Given the description of an element on the screen output the (x, y) to click on. 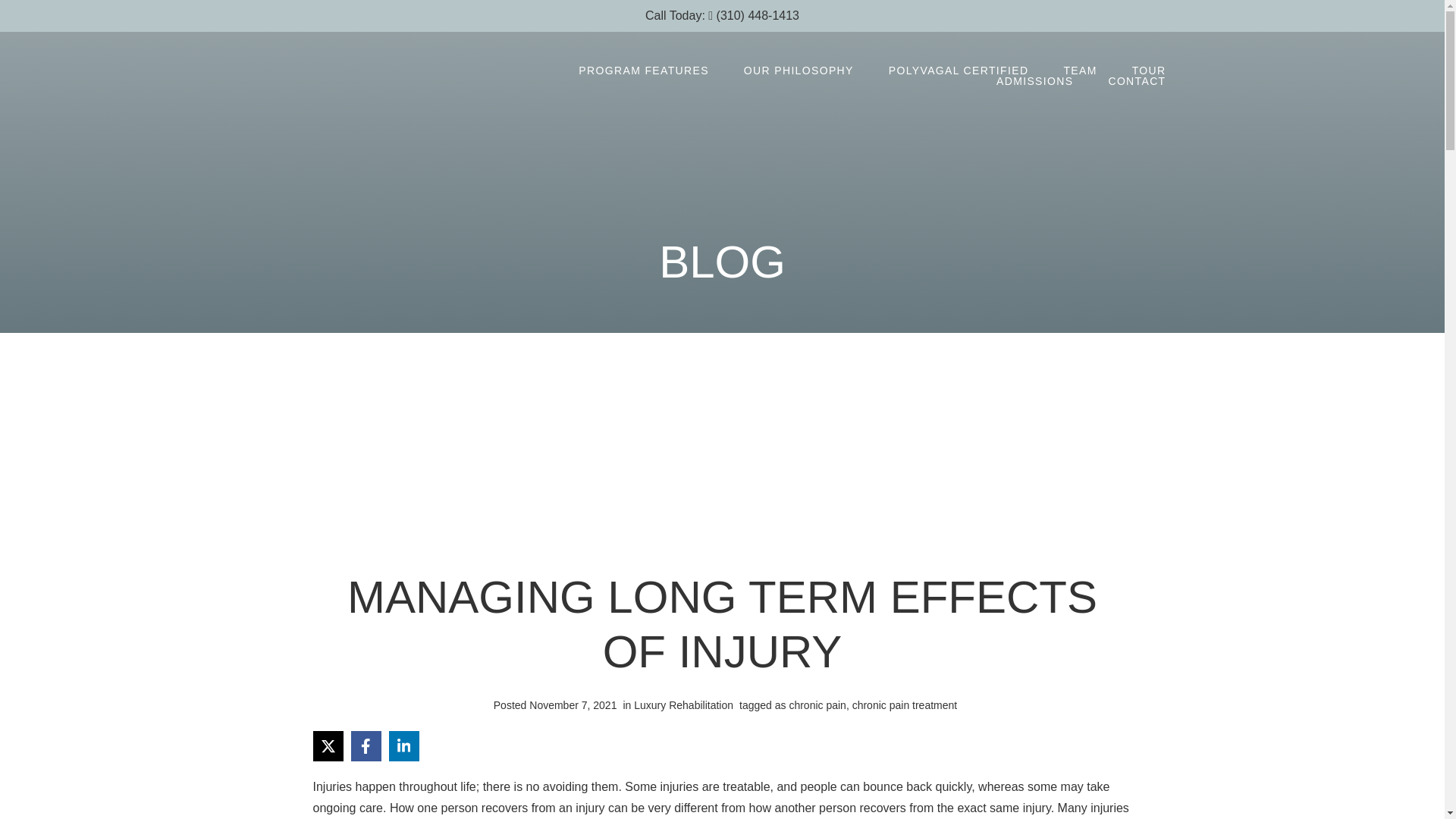
ADMISSIONS (1034, 81)
POLYVAGAL CERTIFIED (958, 70)
TEAM (1079, 70)
Luxury Rehabilitation (683, 705)
Posted November 7, 2021 (552, 704)
CONTACT (1136, 81)
chronic pain (817, 705)
PROGRAM FEATURES (643, 70)
TOUR (1149, 70)
OUR PHILOSOPHY (798, 70)
chronic pain treatment (904, 705)
